Given the description of an element on the screen output the (x, y) to click on. 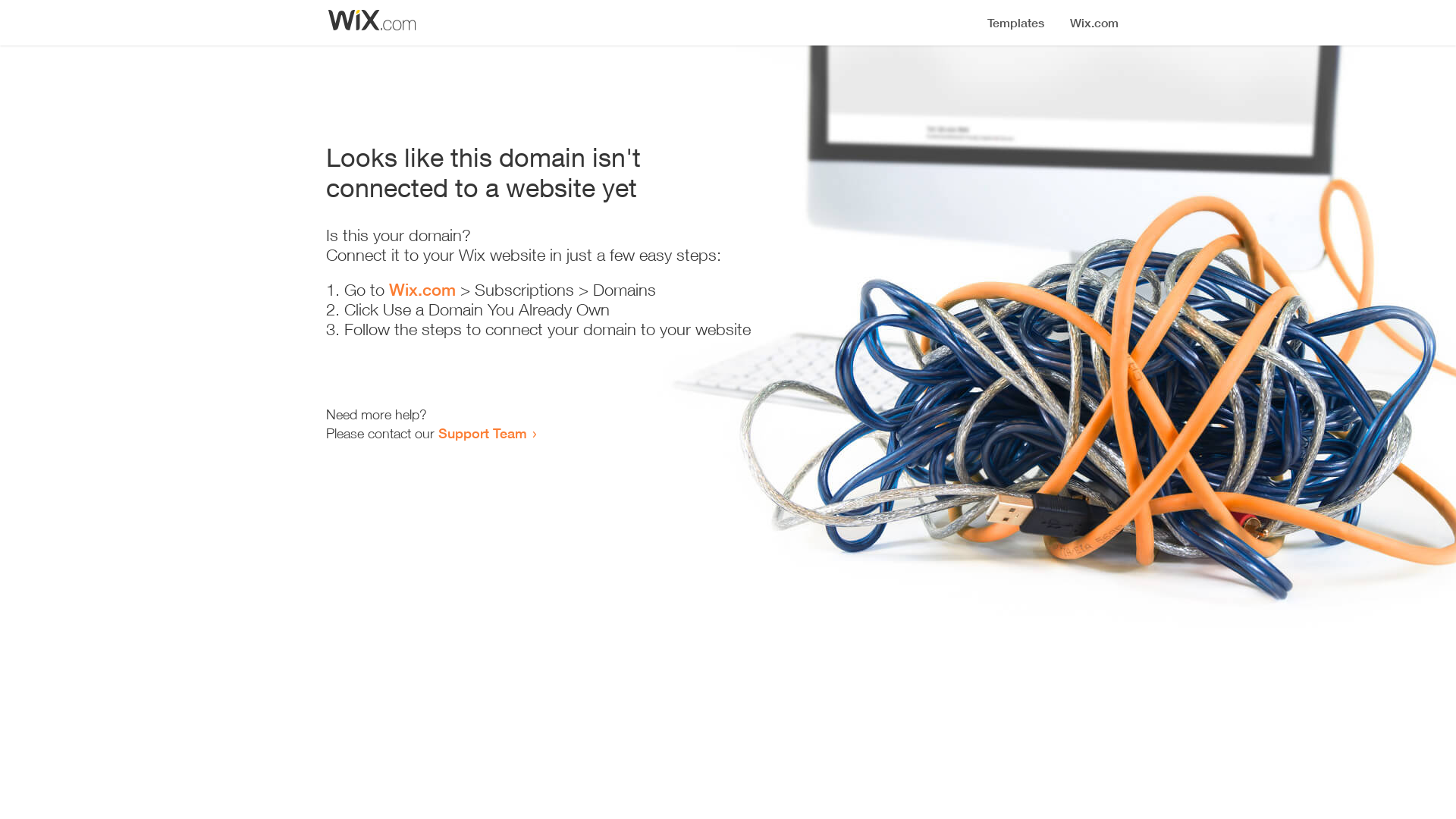
Wix.com Element type: text (422, 289)
Support Team Element type: text (482, 432)
